Given the description of an element on the screen output the (x, y) to click on. 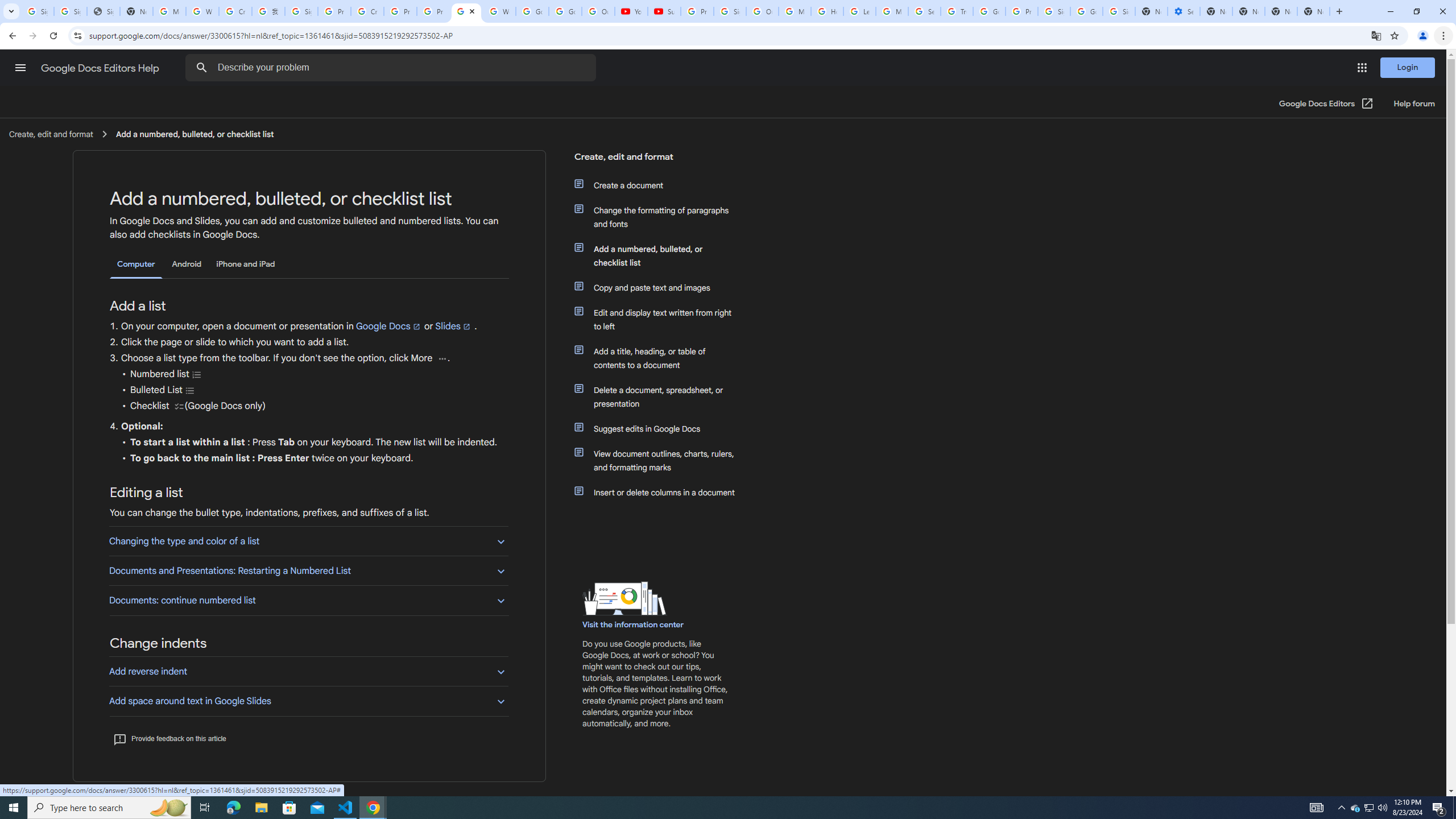
Google Docs (388, 326)
Computer (136, 264)
More (441, 357)
Google Docs Editors Help (100, 68)
YouTube (631, 11)
Trusted Information and Content - Google Safety Center (957, 11)
